Given the description of an element on the screen output the (x, y) to click on. 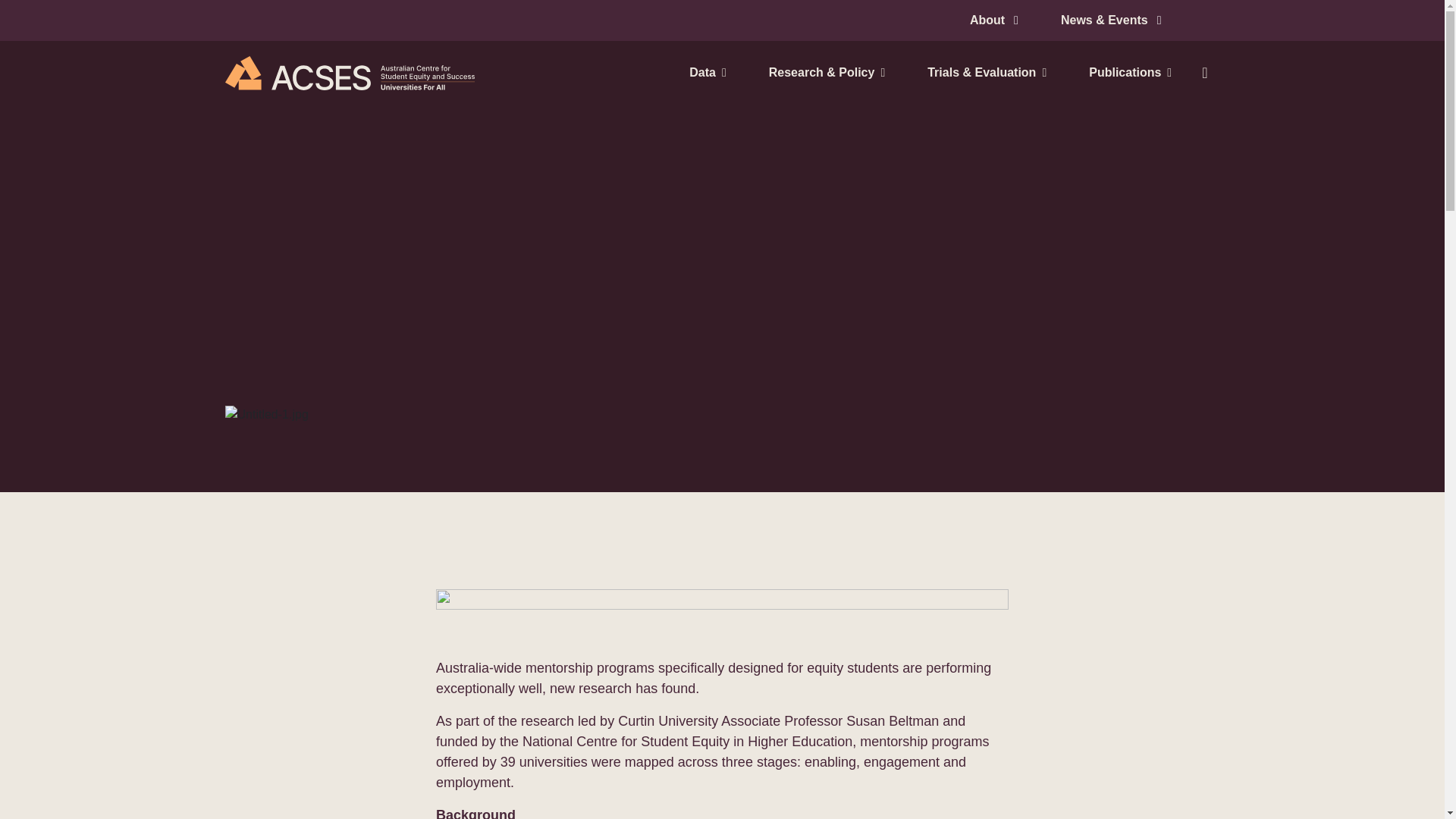
Data (707, 72)
Publications (1124, 72)
About (993, 20)
